Given the description of an element on the screen output the (x, y) to click on. 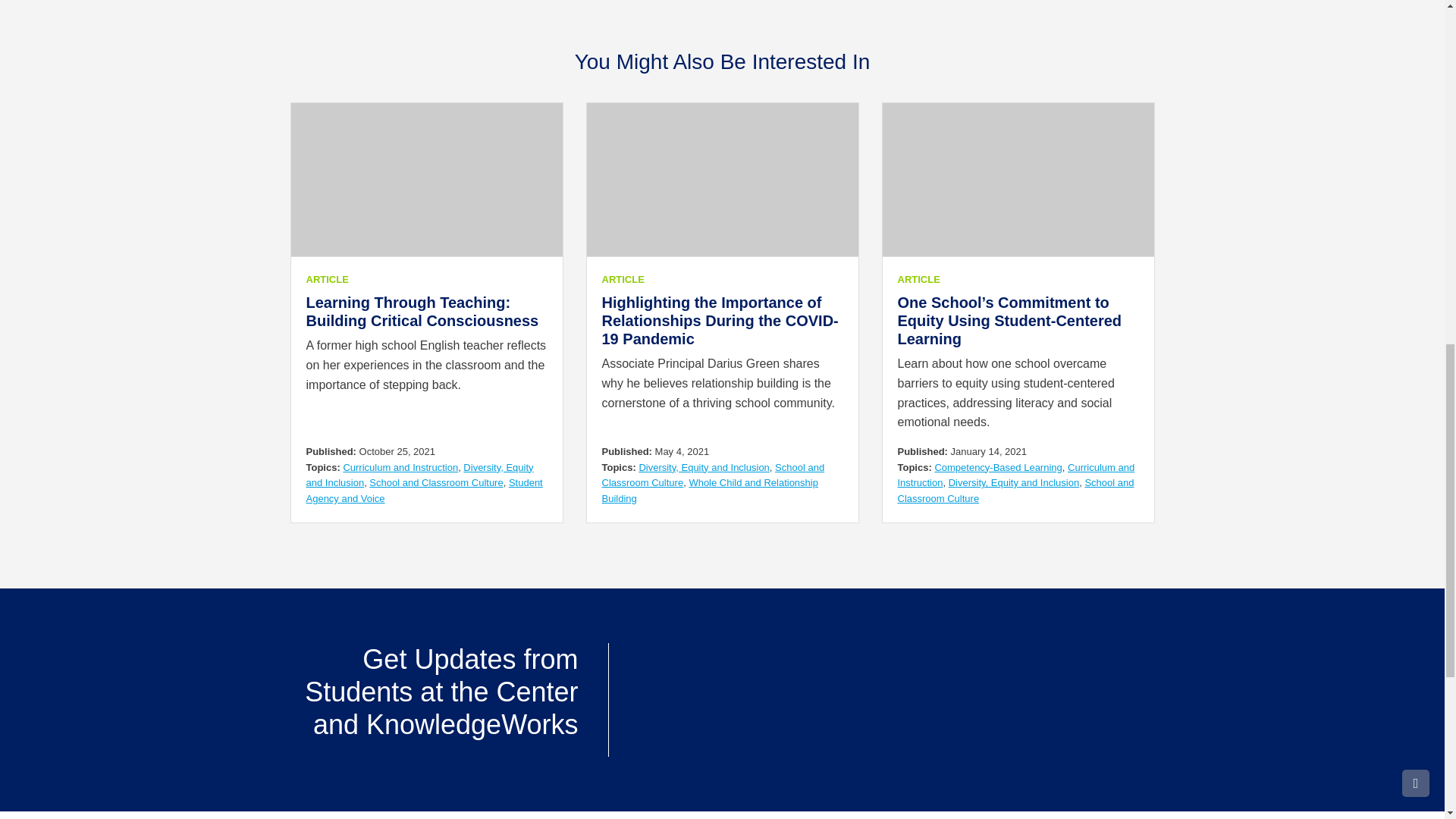
Curriculum and Instruction (400, 467)
Diversity, Equity and Inclusion (419, 474)
Learning Through Teaching: Building Critical Consciousness (421, 311)
Student Agency and Voice (424, 490)
School and Classroom Culture (435, 482)
